Given the description of an element on the screen output the (x, y) to click on. 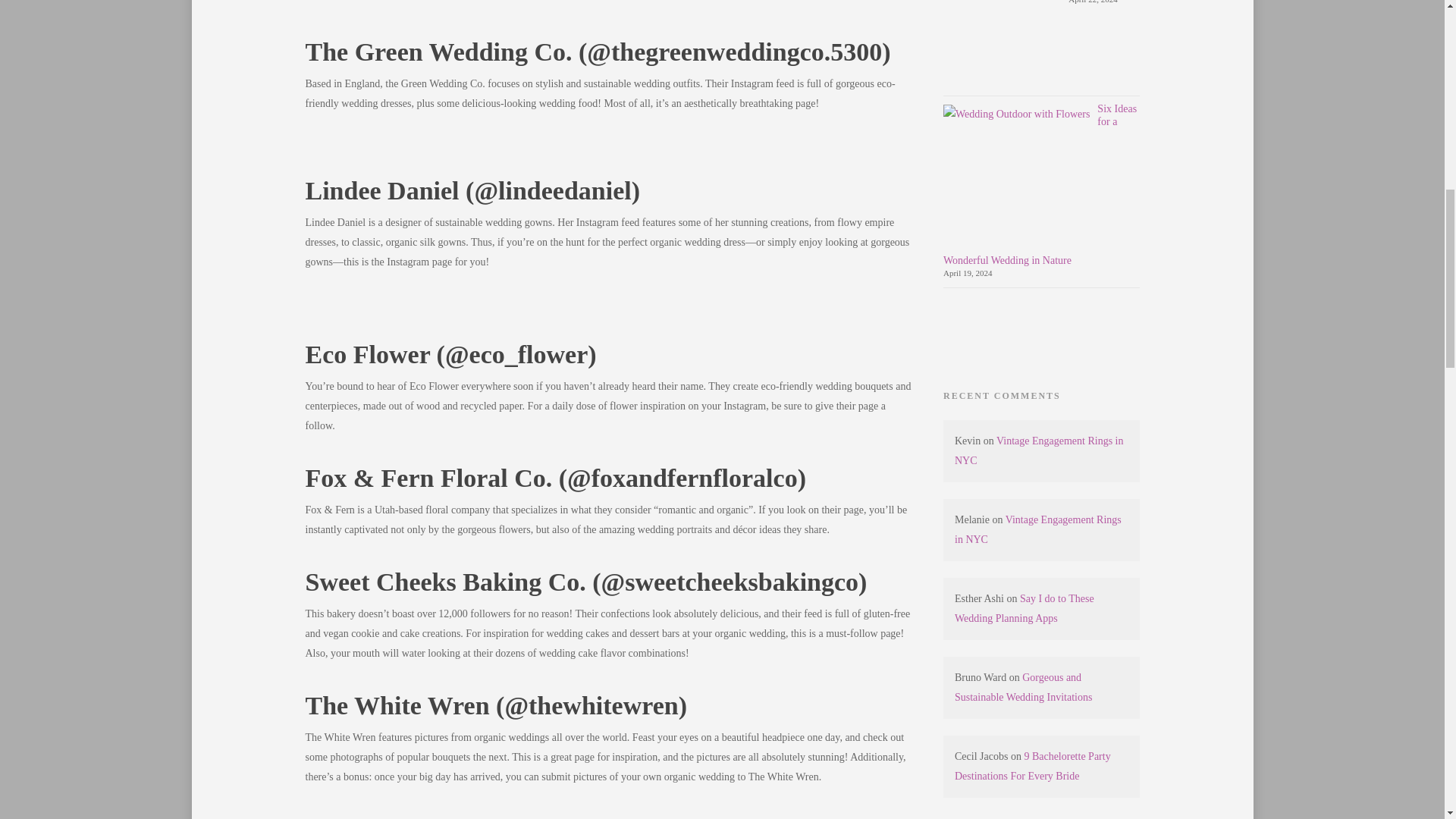
Six Ideas for a Wonderful Wedding in Nature (1040, 184)
Vintage Engagement Rings in NYC (1038, 450)
Gorgeous and Sustainable Wedding Invitations (1023, 686)
Say I do to These Wedding Planning Apps (1024, 608)
Vintage Engagement Rings in NYC (1038, 529)
